Given the description of an element on the screen output the (x, y) to click on. 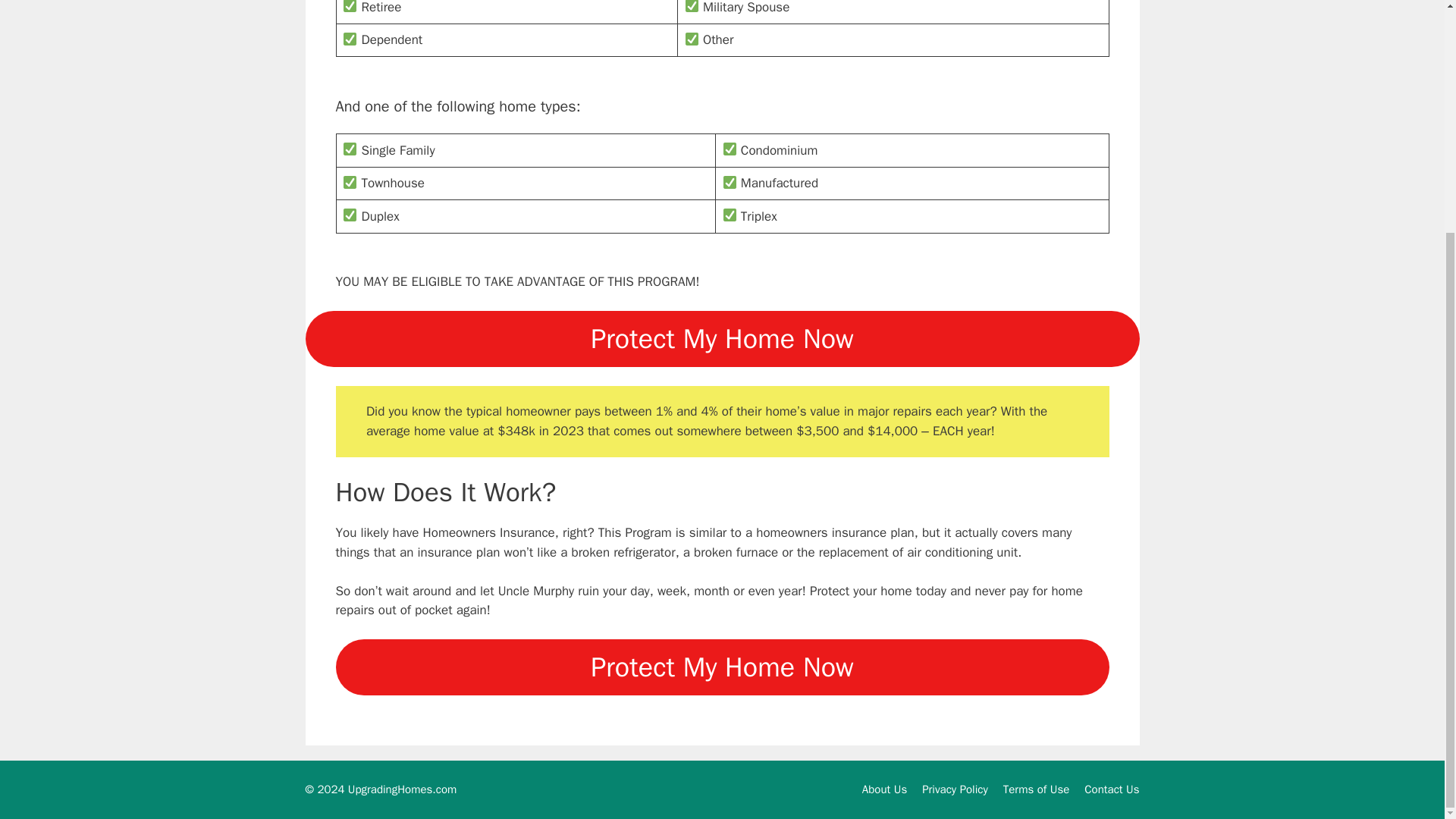
About Us (884, 789)
Protect My Home Now (721, 338)
Protect My Home Now (721, 667)
Contact Us (1111, 789)
Privacy Policy (954, 789)
Terms of Use (1036, 789)
